Given the description of an element on the screen output the (x, y) to click on. 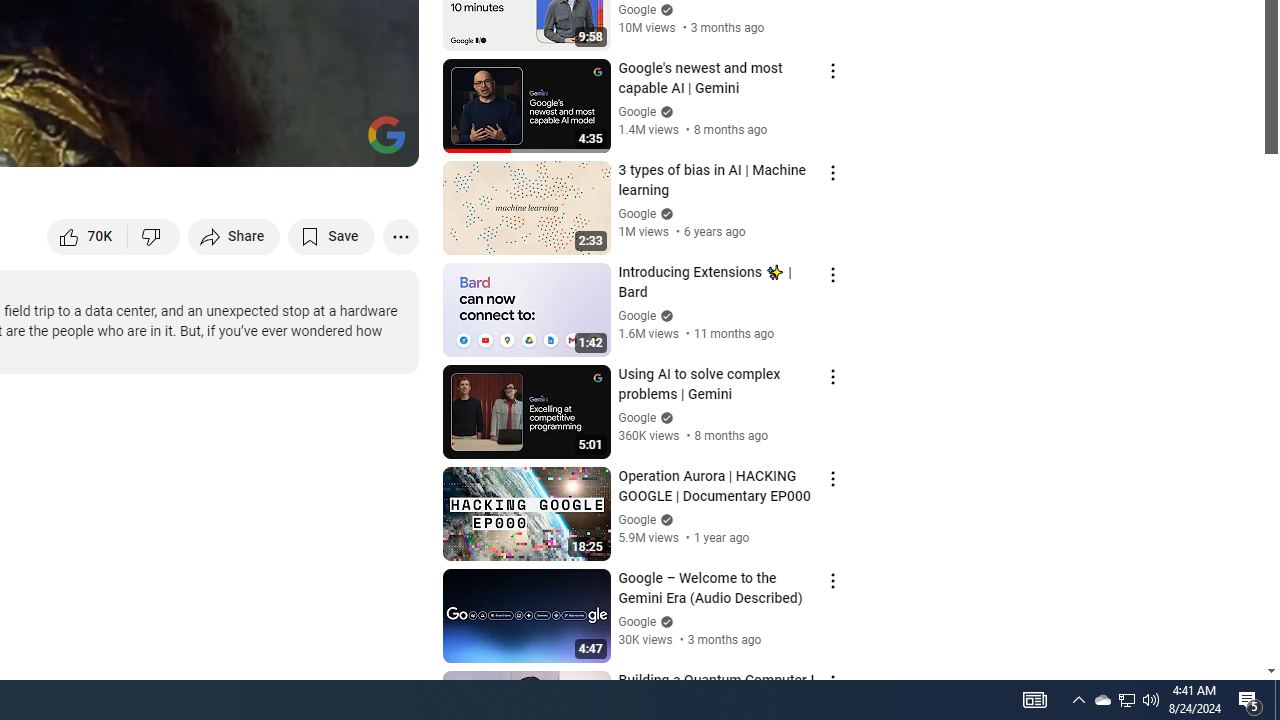
Action menu (832, 682)
Full screen (f) (382, 142)
Dislike this video (154, 236)
